Given the description of an element on the screen output the (x, y) to click on. 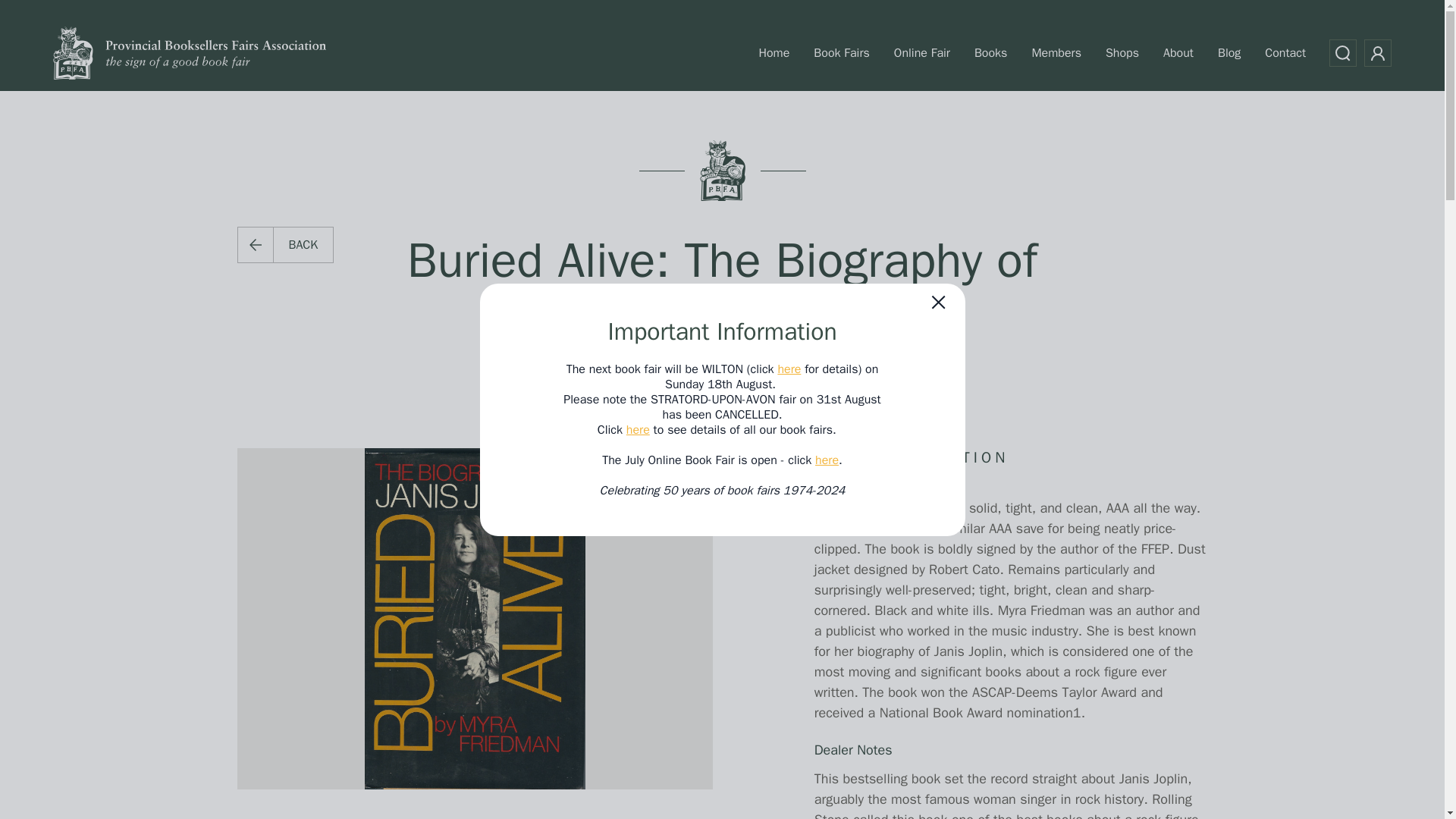
BACK (284, 244)
here (788, 368)
Home (773, 52)
Contact (1285, 52)
here (637, 428)
Books (990, 52)
here (826, 459)
About (1178, 52)
Home Page (189, 52)
Online Fair (921, 52)
